Given the description of an element on the screen output the (x, y) to click on. 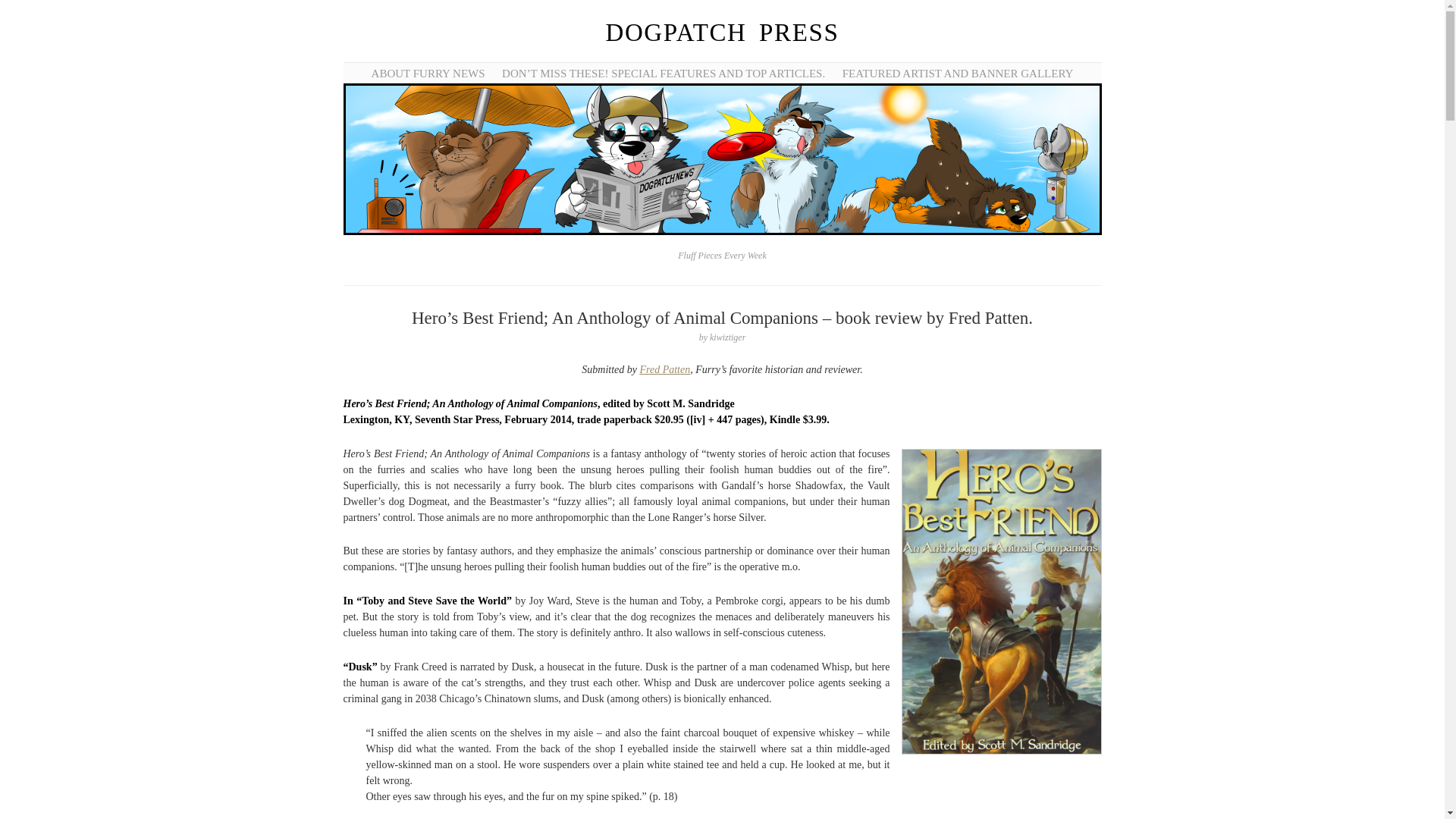
Fred Patten (664, 369)
Home (721, 31)
ABOUT FURRY NEWS (427, 73)
DOGPATCH PRESS (721, 31)
FEATURED ARTIST AND BANNER GALLERY (958, 73)
